Given the description of an element on the screen output the (x, y) to click on. 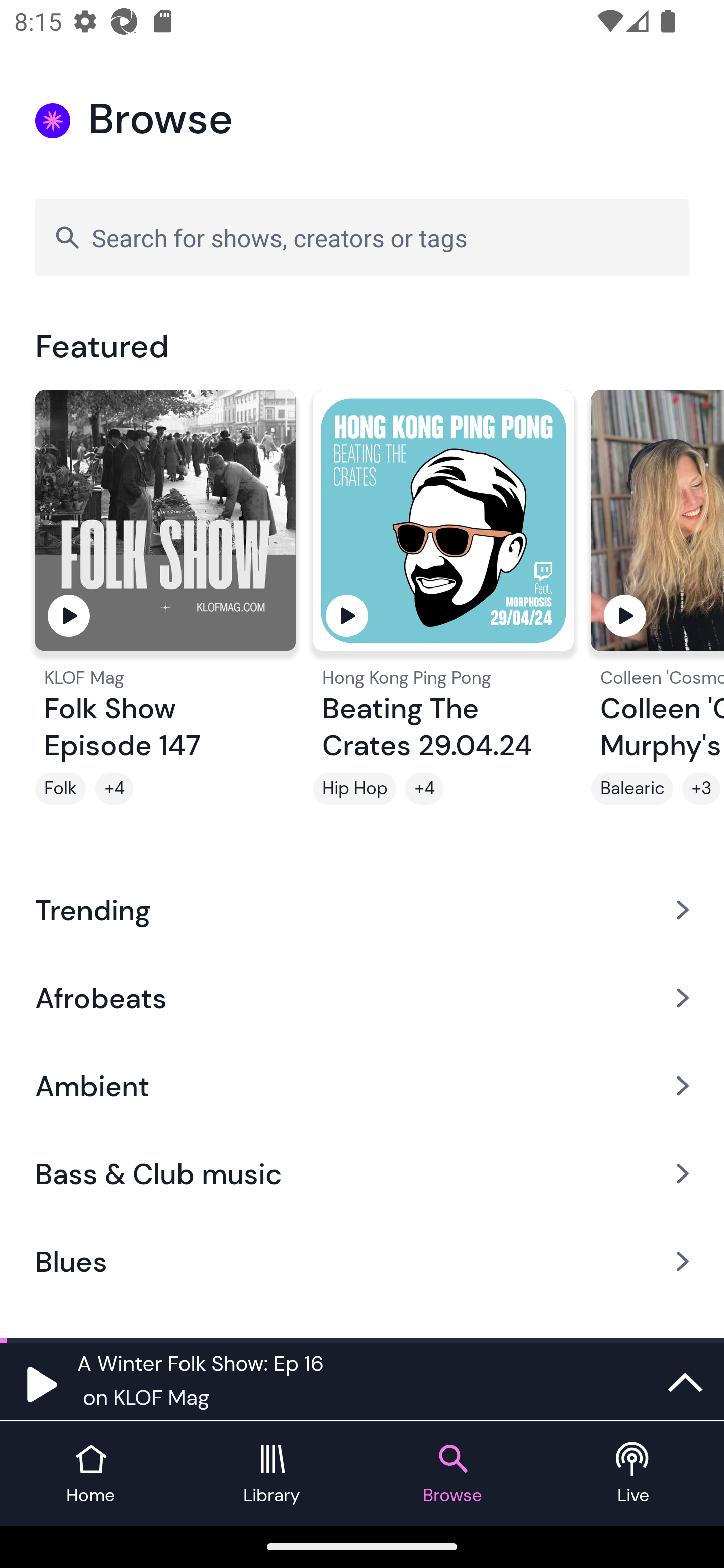
Search for shows, creators or tags (361, 237)
Folk (60, 788)
Hip Hop (354, 788)
Balearic (632, 788)
Trending (361, 909)
Afrobeats (361, 997)
Ambient (361, 1085)
Bass & Club music (361, 1174)
Blues (361, 1262)
Home tab Home (90, 1473)
Library tab Library (271, 1473)
Browse tab Browse (452, 1473)
Live tab Live (633, 1473)
